Given the description of an element on the screen output the (x, y) to click on. 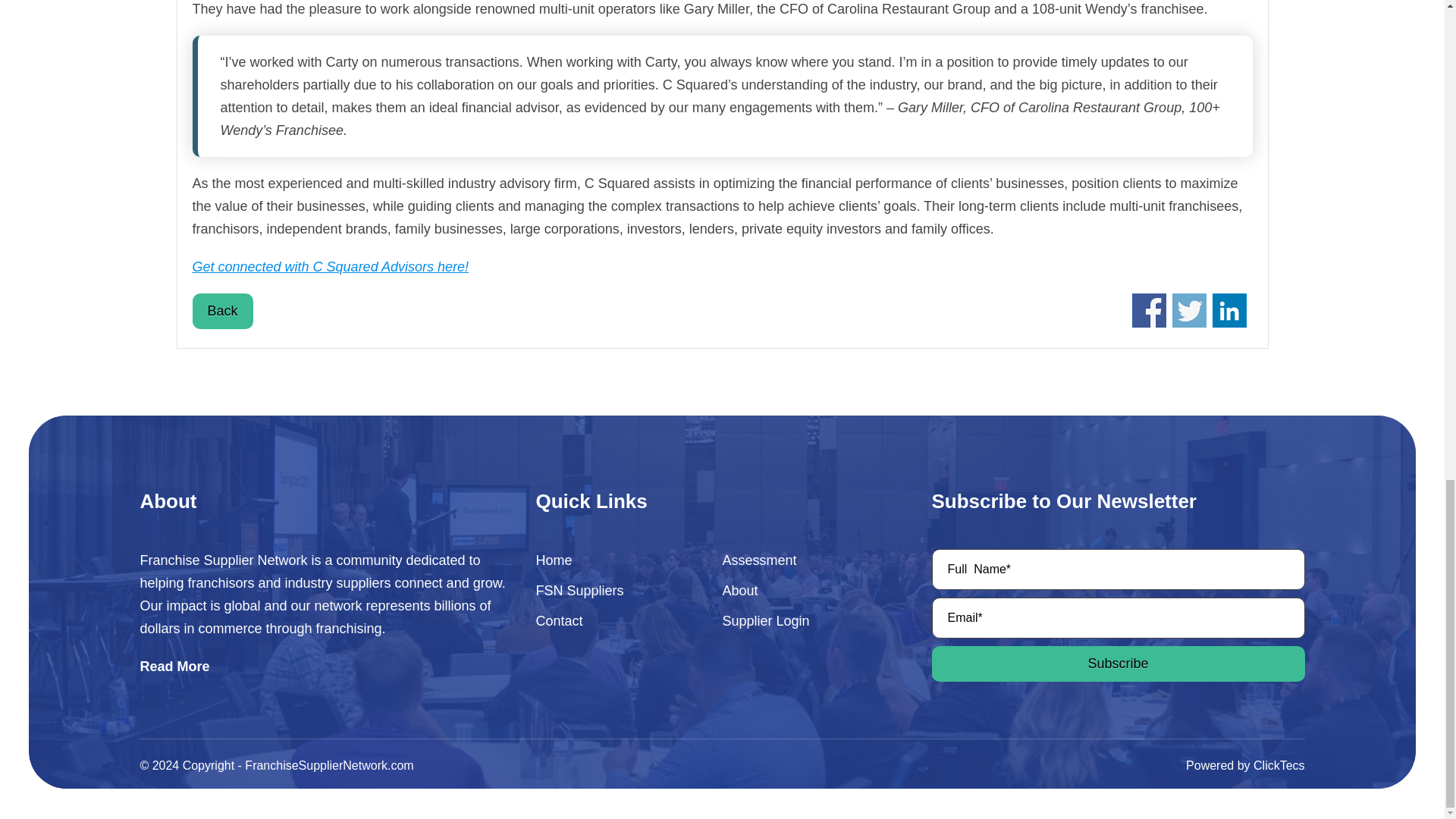
Supplier Login (797, 620)
ClickTecs (1278, 765)
Subscribe (1117, 663)
Contact (610, 620)
Get connected with C Squared Advisors here! (330, 266)
Subscribe (1117, 663)
About (797, 590)
Home (610, 559)
FSN Suppliers (610, 590)
Assessment (797, 559)
